Given the description of an element on the screen output the (x, y) to click on. 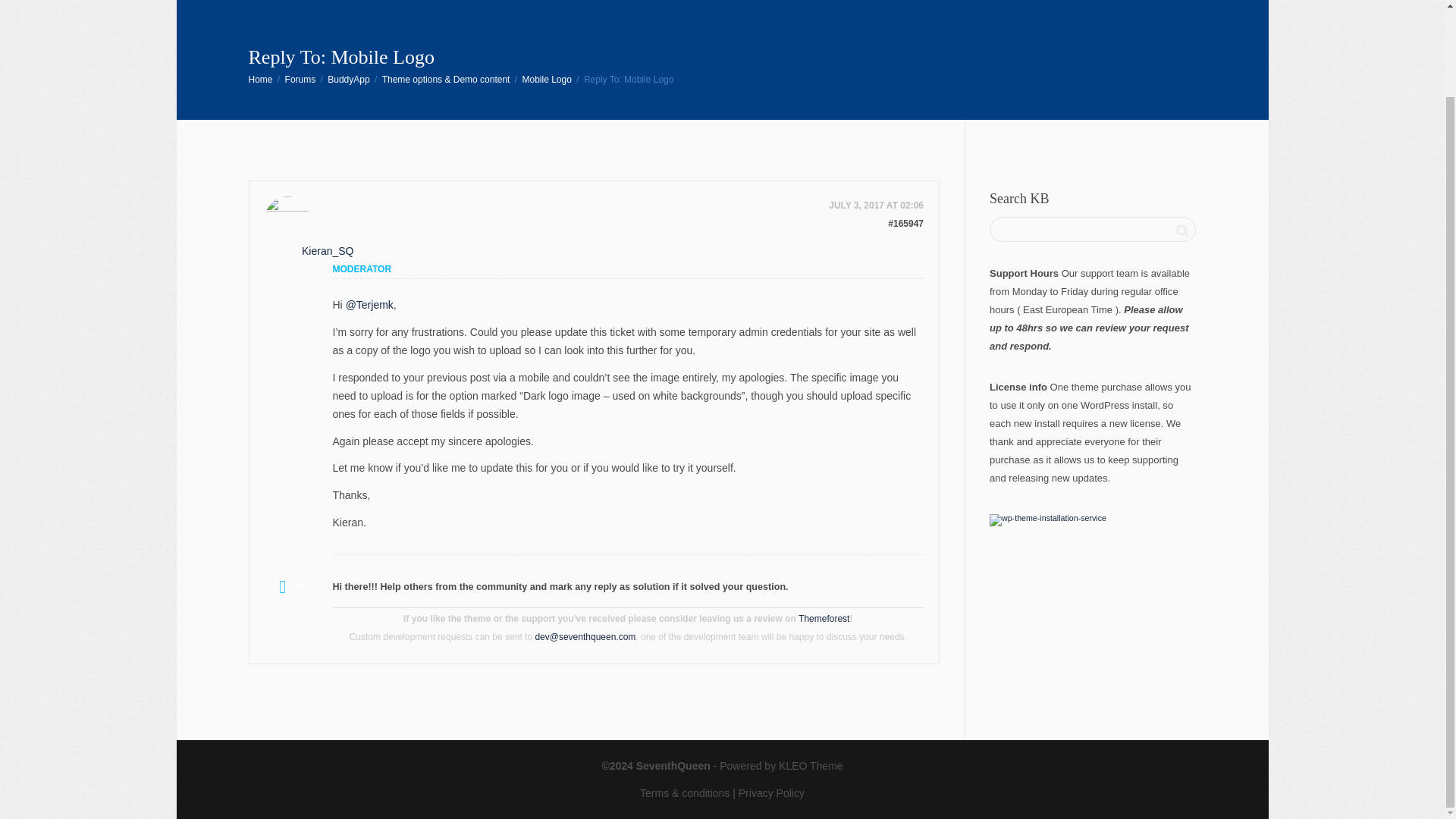
Mark as a solution (286, 585)
Powered by KLEO Theme (781, 766)
Search (1181, 230)
Mobile Logo (545, 79)
Forums (300, 79)
Search (1181, 230)
BuddyApp (348, 79)
Search (1181, 230)
Themeforest (822, 618)
SeventhQueen Archived Support (260, 79)
